Given the description of an element on the screen output the (x, y) to click on. 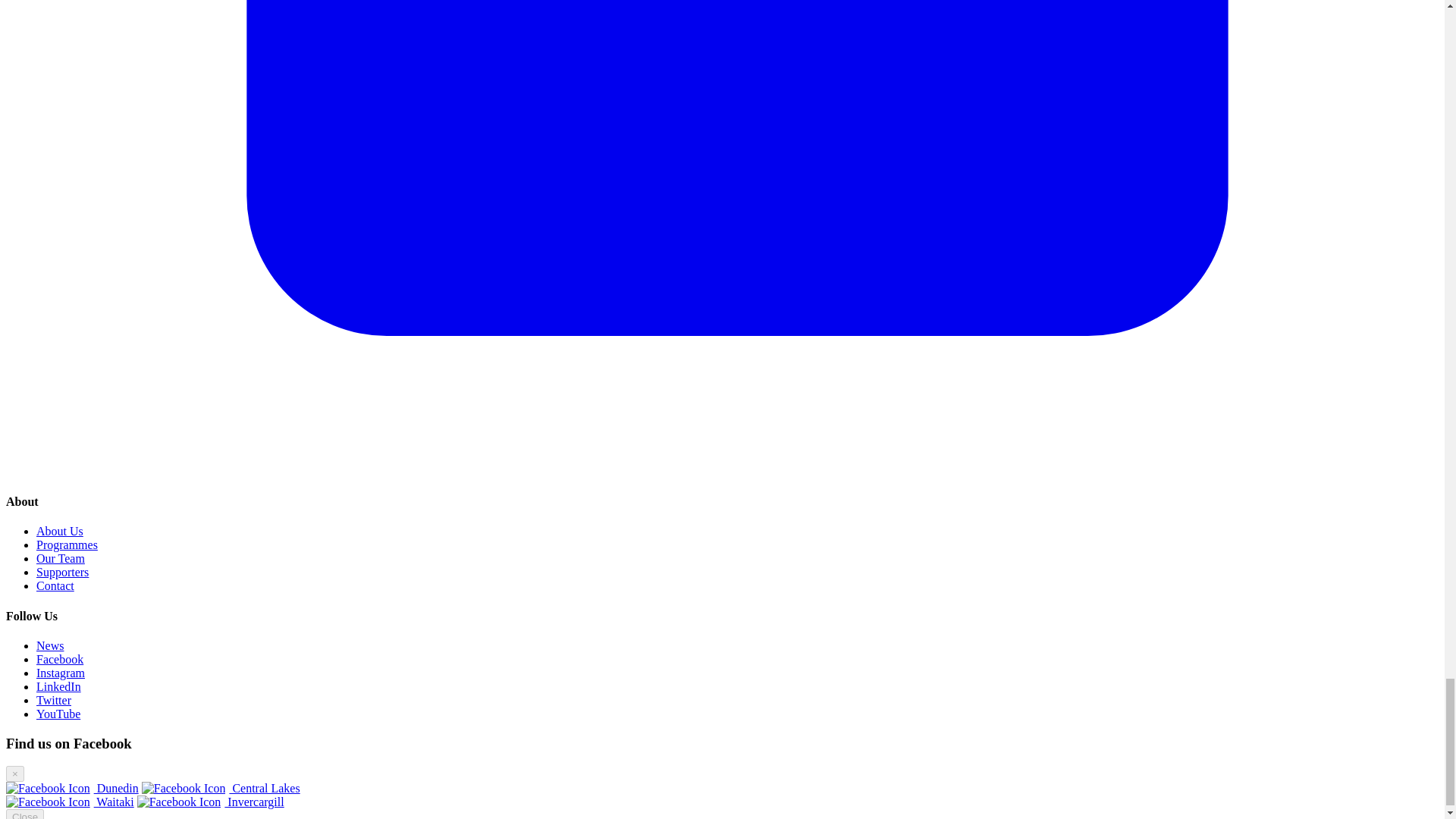
About Us (59, 530)
Contact (55, 585)
Programmes (66, 544)
Our Team (60, 558)
Supporters (62, 571)
